Given the description of an element on the screen output the (x, y) to click on. 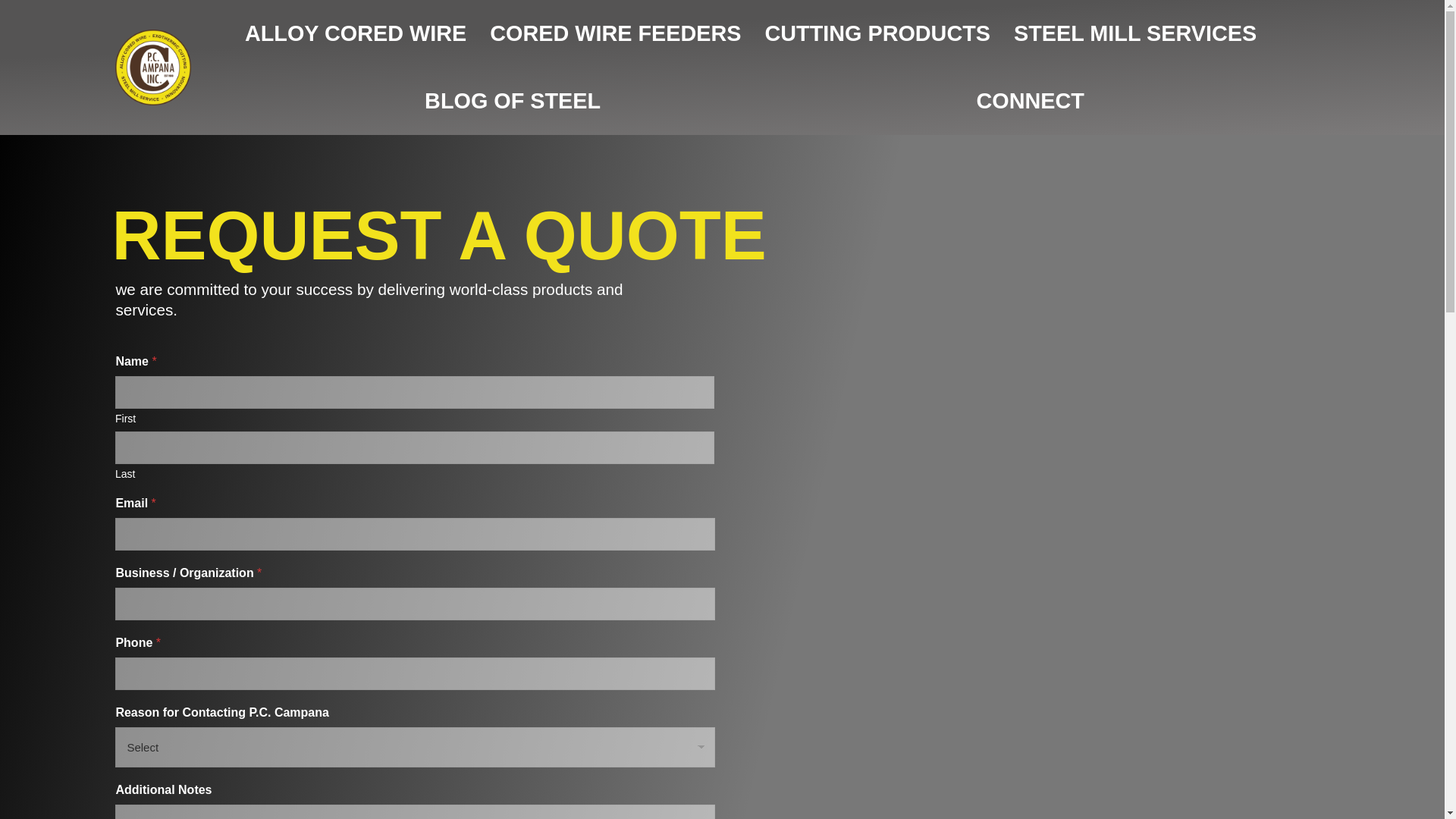
CORED WIRE FEEDERS (615, 33)
CONNECT (1030, 101)
STEEL MILL SERVICES (1135, 33)
ALLOY CORED WIRE (354, 33)
CUTTING PRODUCTS (877, 33)
BLOG OF STEEL (512, 101)
